Given the description of an element on the screen output the (x, y) to click on. 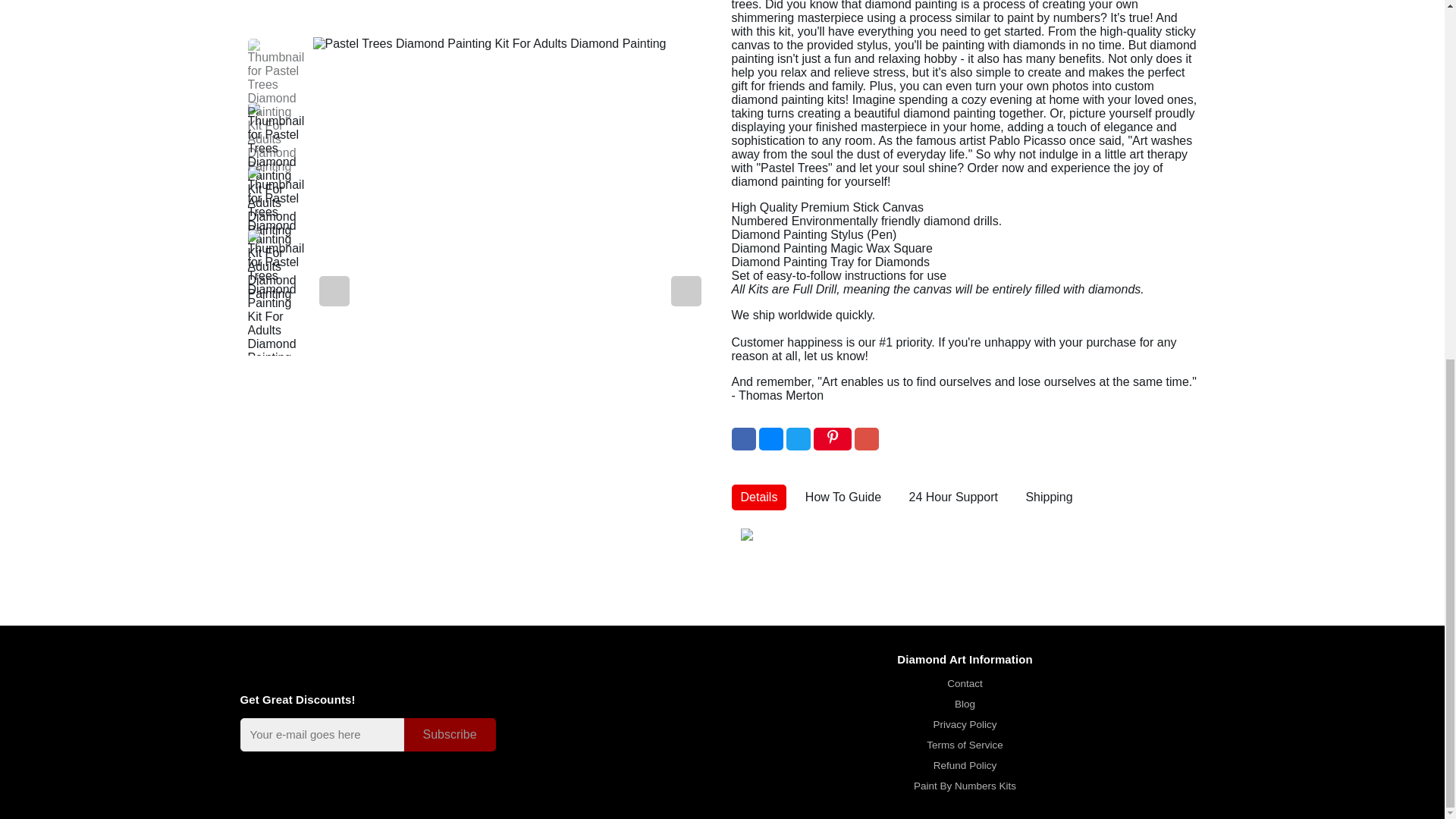
Contact (964, 683)
Subscribe (449, 734)
Refund Policy (964, 765)
Terms of Service (964, 745)
Privacy Policy (964, 724)
Paint By Numbers Kits (964, 785)
Blog (964, 704)
